Given the description of an element on the screen output the (x, y) to click on. 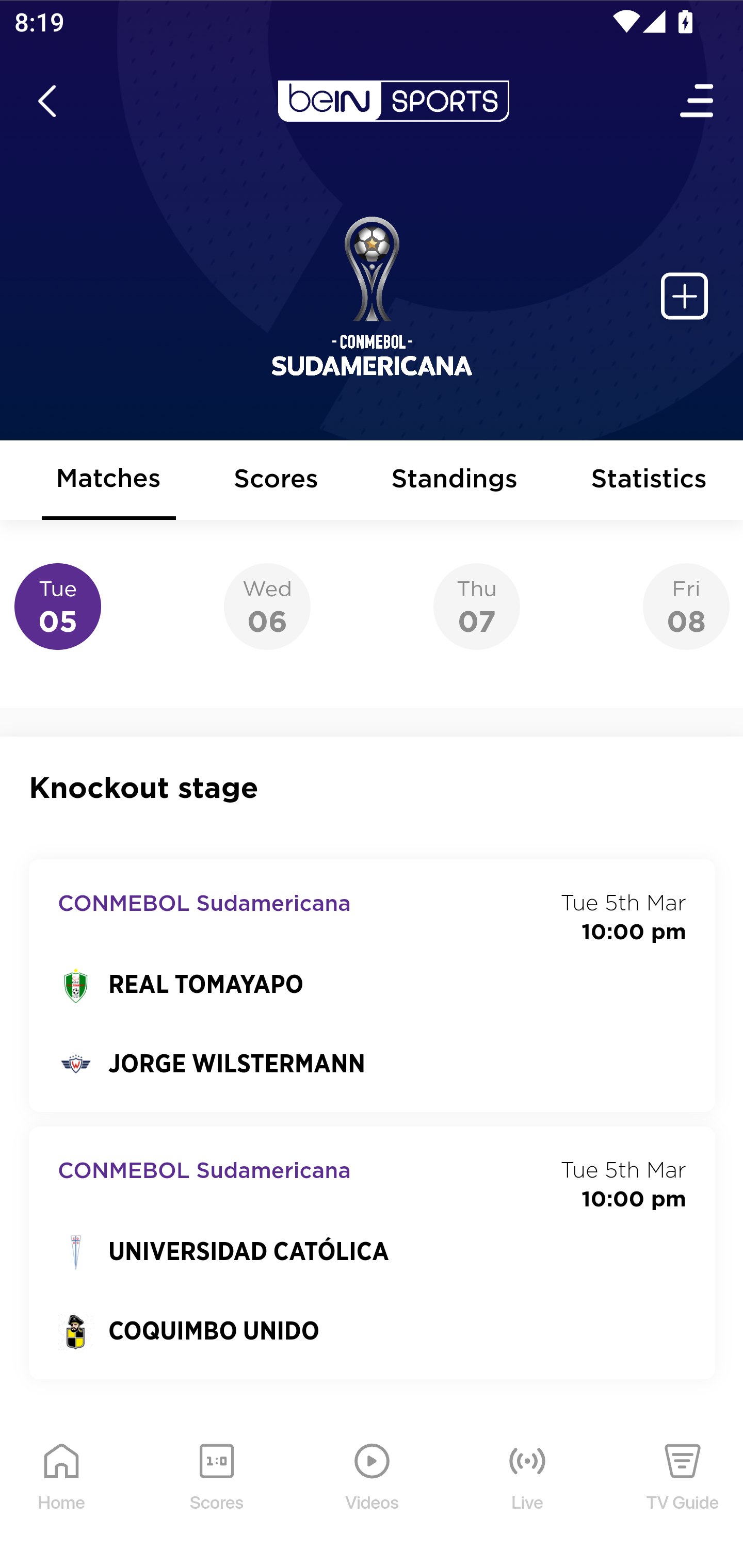
en-us?platform=mobile_android bein logo white (392, 101)
icon back (46, 101)
Open Menu Icon (697, 101)
Matches (107, 480)
Scores (275, 480)
Standings (454, 480)
Statistics (649, 480)
Tue05 (58, 606)
Wed06 (267, 606)
Thu07 (476, 606)
Fri08 (686, 606)
Knockout stage (372, 787)
Home Home Icon Home (61, 1491)
Scores Scores Icon Scores (216, 1491)
Videos Videos Icon Videos (372, 1491)
TV Guide TV Guide Icon TV Guide (682, 1491)
